Given the description of an element on the screen output the (x, y) to click on. 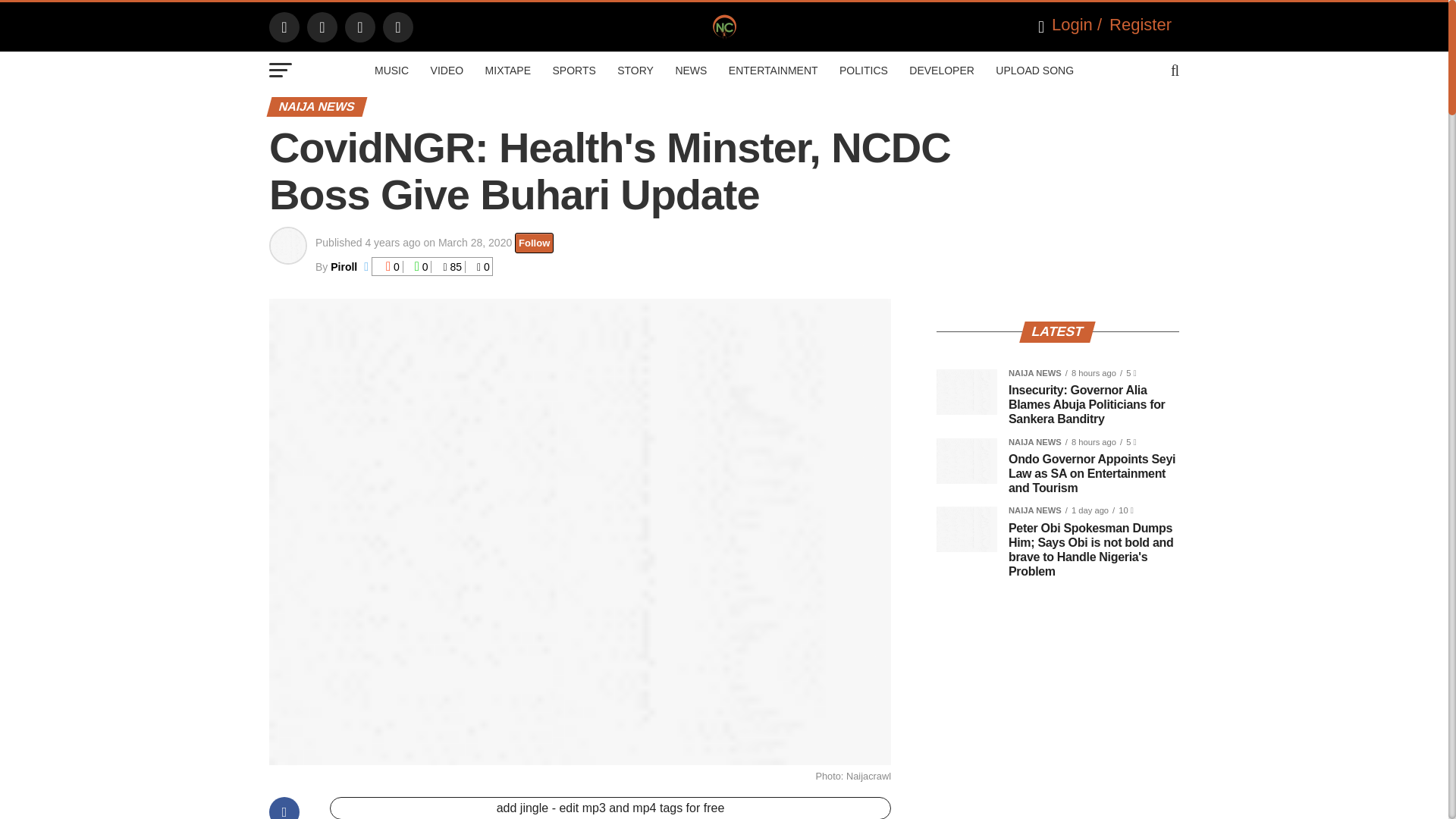
Posts by Piroll (343, 266)
